Given the description of an element on the screen output the (x, y) to click on. 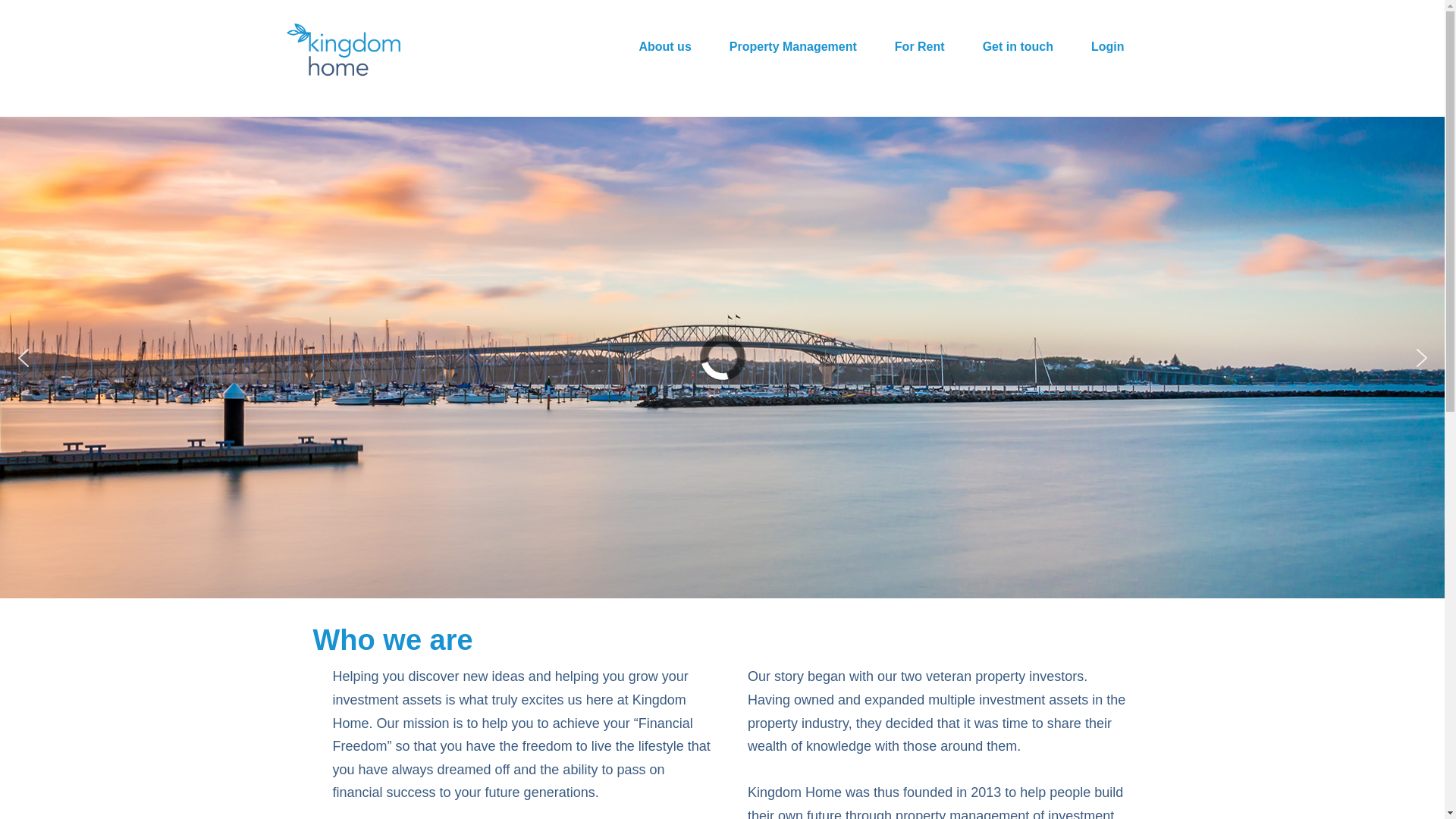
For Rent (919, 46)
Login (1107, 46)
About us (664, 46)
Get in touch (1017, 46)
Property Management (793, 46)
